Given the description of an element on the screen output the (x, y) to click on. 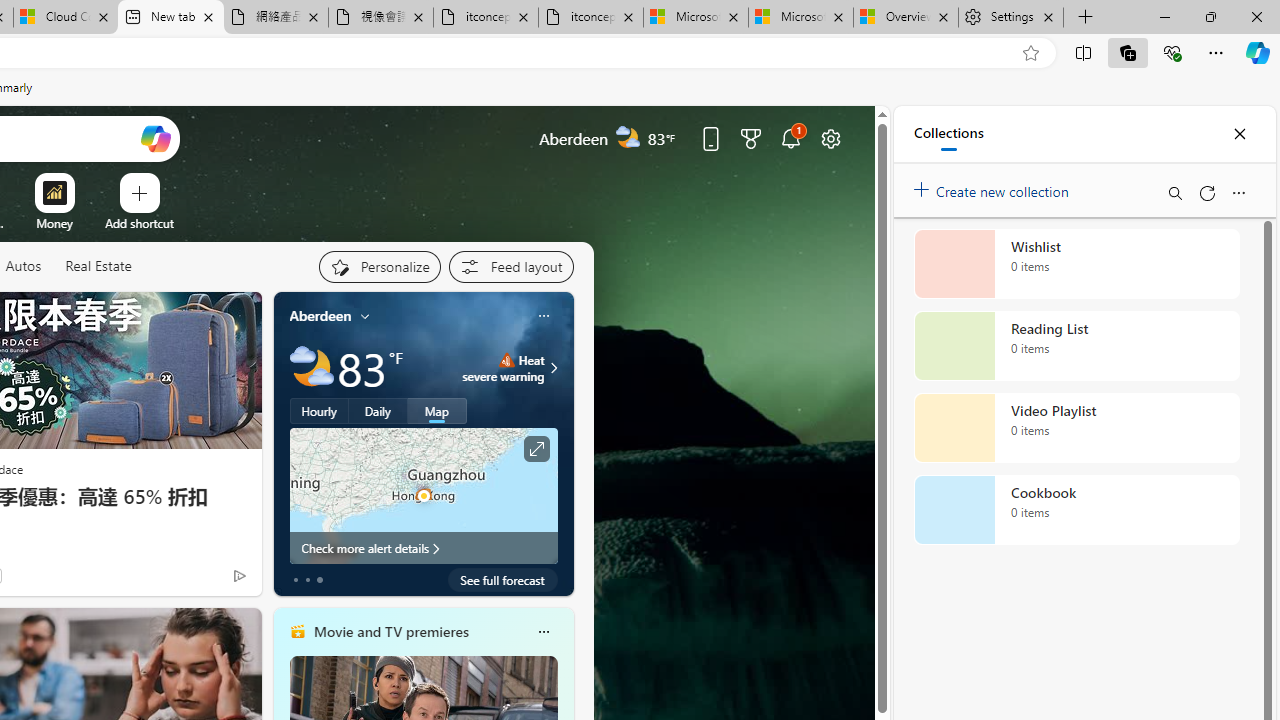
See full forecast (502, 579)
Partly cloudy (311, 368)
Reading List collection, 0 items (1076, 345)
Click to see more information (536, 449)
Daily (378, 411)
Cookbook collection, 0 items (1076, 510)
